Given the description of an element on the screen output the (x, y) to click on. 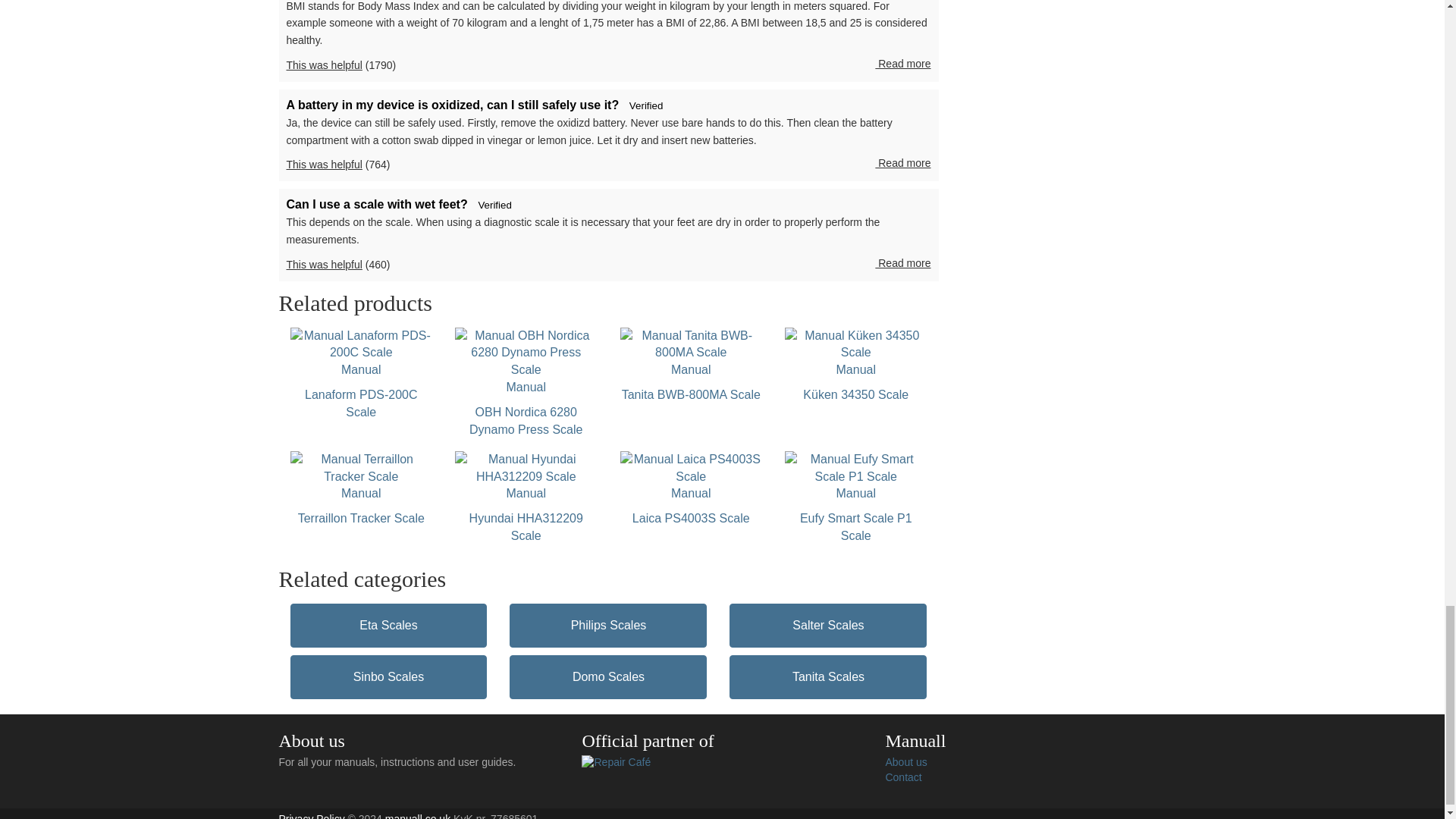
Domo Scales (607, 677)
Sinbo Scales (360, 489)
 Read more (387, 677)
 Read more (902, 263)
Tanita Scales (902, 64)
Manual Hyundai HHA312209 Scale (827, 677)
Salter Scales (360, 374)
